Given the description of an element on the screen output the (x, y) to click on. 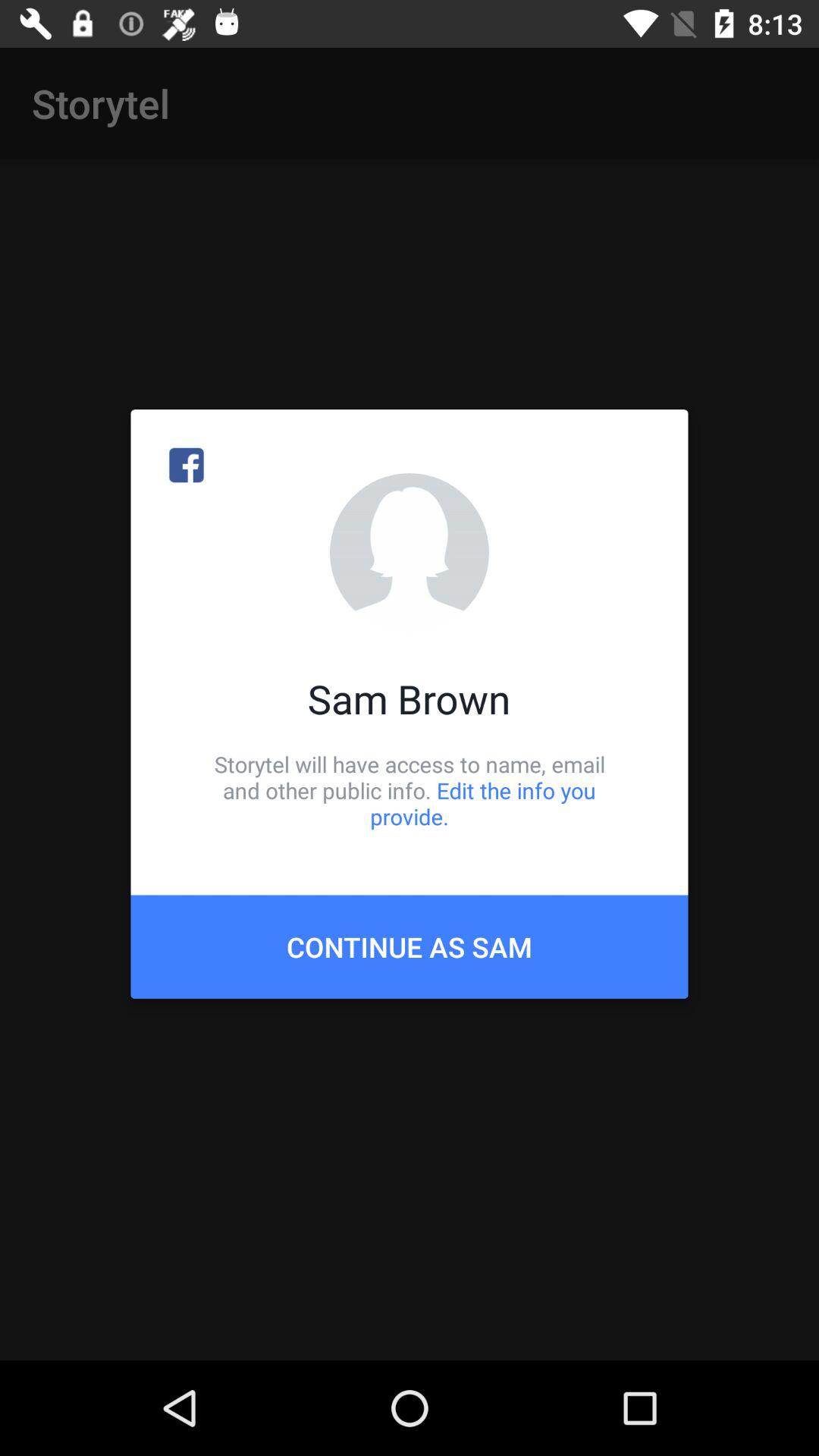
scroll until the storytel will have item (409, 790)
